Given the description of an element on the screen output the (x, y) to click on. 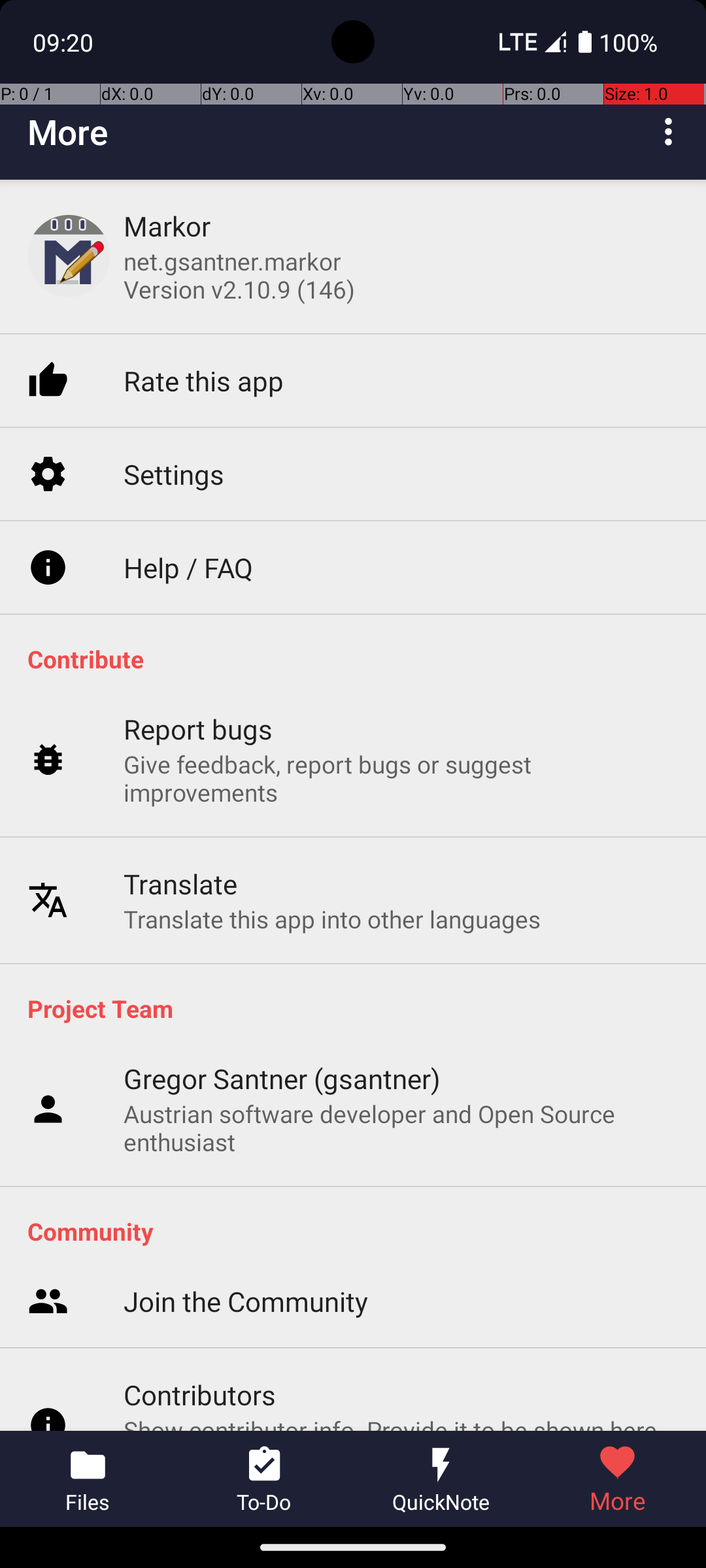
09:20 Element type: android.widget.TextView (64, 41)
